Given the description of an element on the screen output the (x, y) to click on. 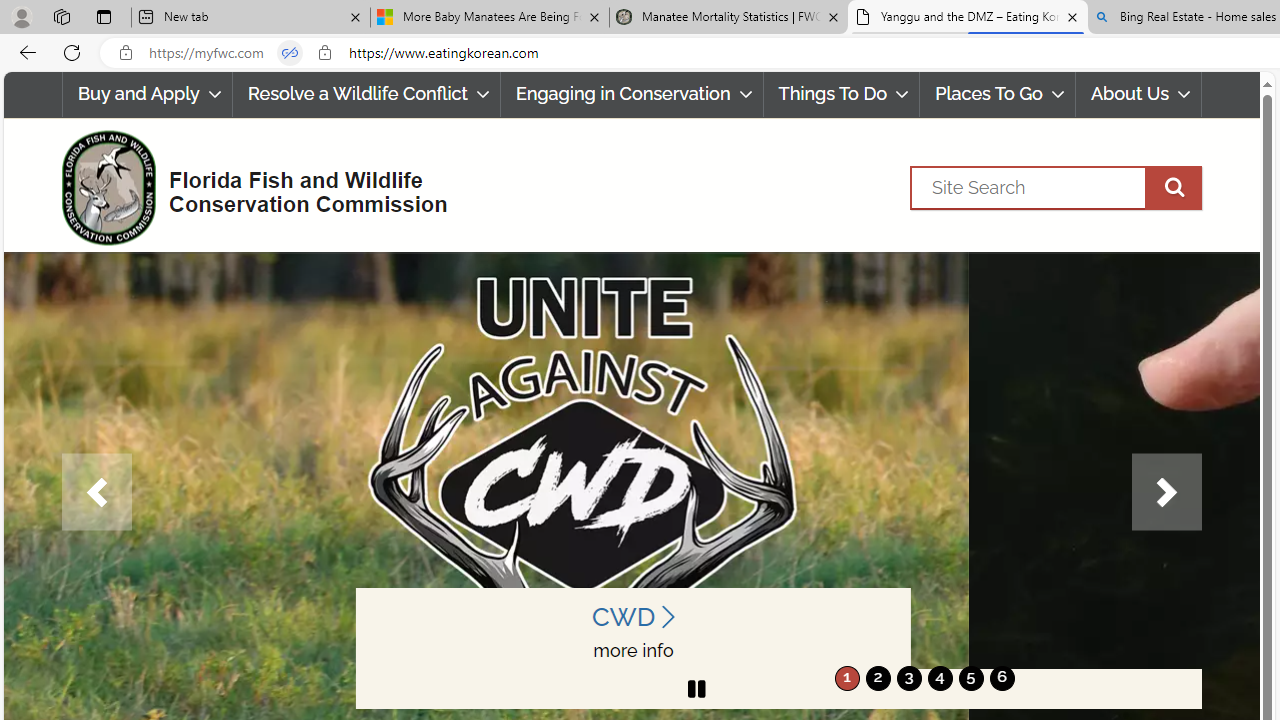
Next (1166, 491)
move to slide 4 (939, 678)
Places To Go (997, 94)
About Us (1138, 94)
Pasco Zone Reopening  (925, 649)
Resolve a Wildlife Conflict (365, 94)
Manatee Mortality Statistics | FWC (729, 17)
Things To Do (841, 94)
Engaging in Conservation (632, 94)
FWC Logo (108, 187)
3 (908, 678)
